Given the description of an element on the screen output the (x, y) to click on. 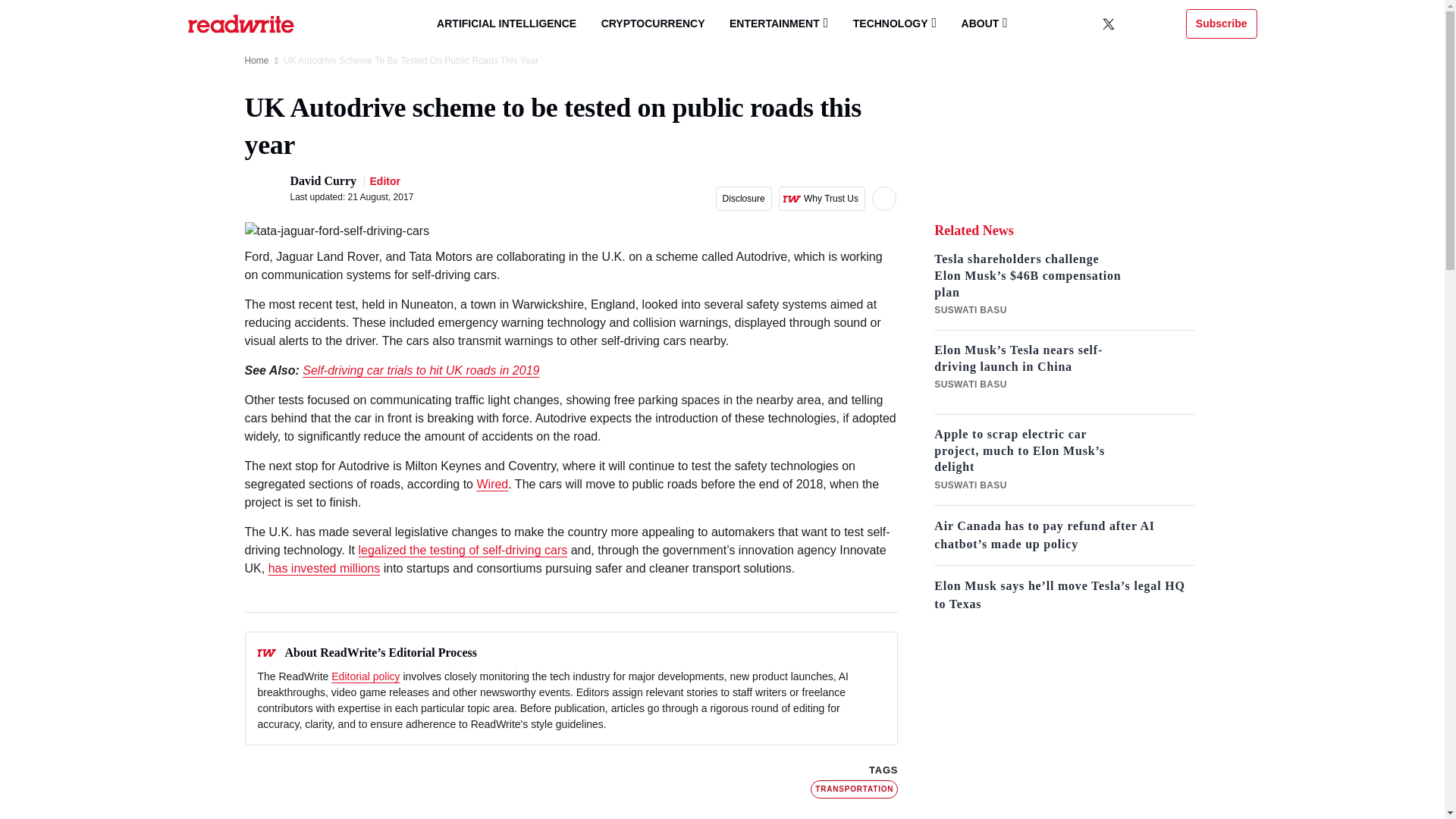
Subscribe (1221, 23)
Home (255, 60)
ARTIFICIAL INTELLIGENCE (506, 23)
TECHNOLOGY (895, 23)
ABOUT (983, 23)
English (1137, 23)
CRYPTOCURRENCY (653, 23)
ENTERTAINMENT (778, 23)
